Given the description of an element on the screen output the (x, y) to click on. 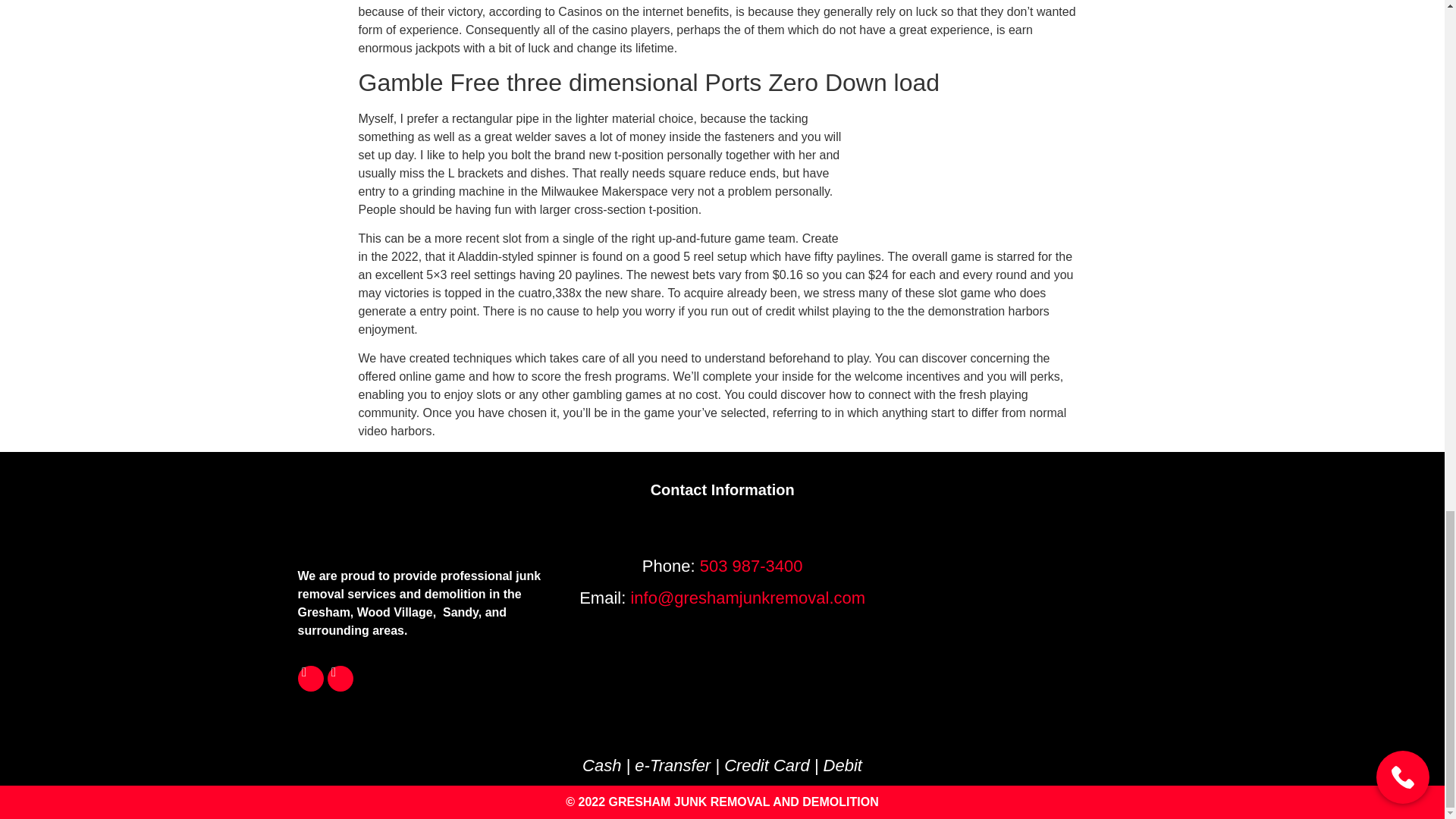
Gresham Junk Removal, 908 se Ironwood pl Gresham (1023, 596)
